Given the description of an element on the screen output the (x, y) to click on. 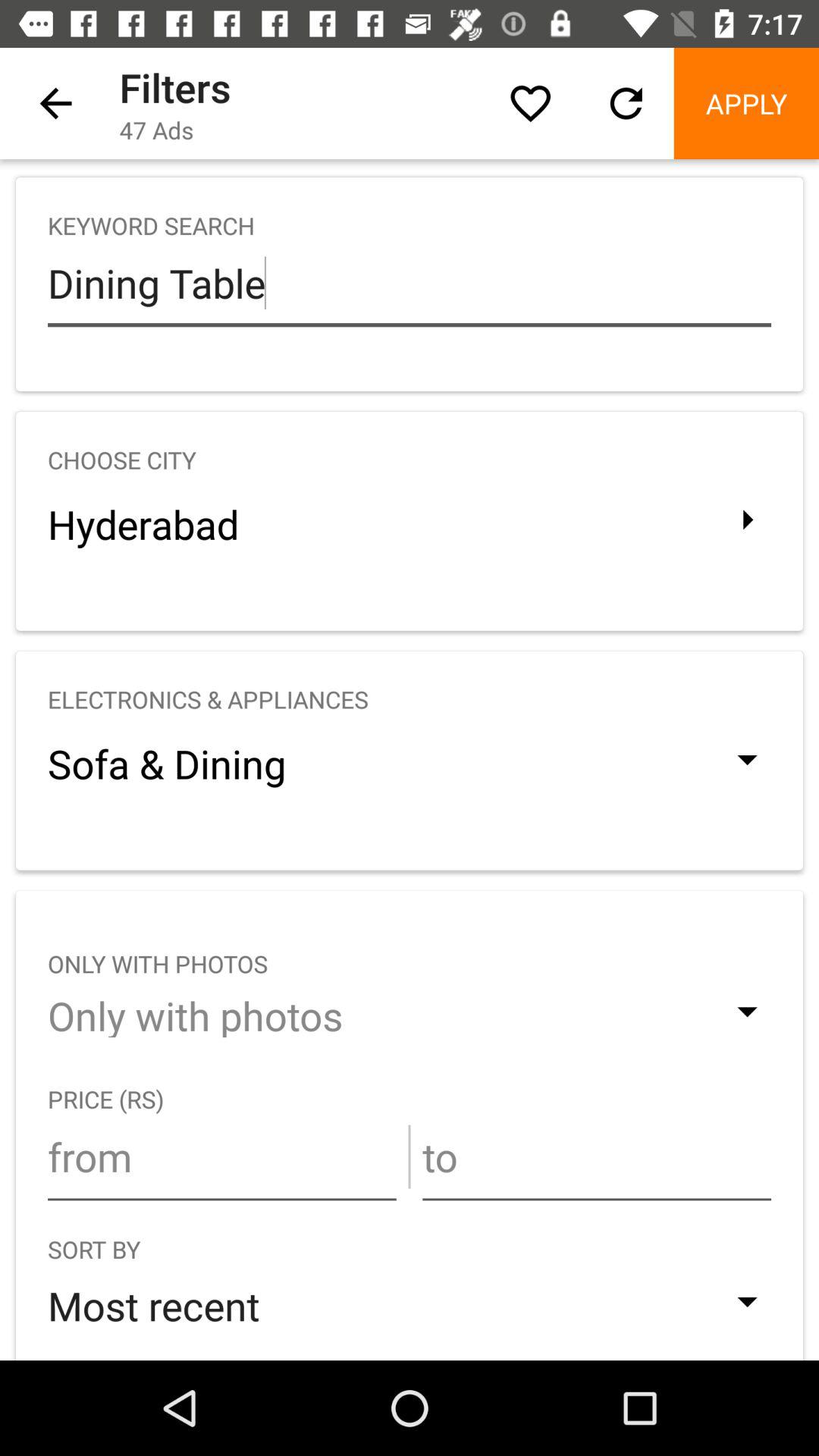
choose icon below the choose city item (409, 523)
